Given the description of an element on the screen output the (x, y) to click on. 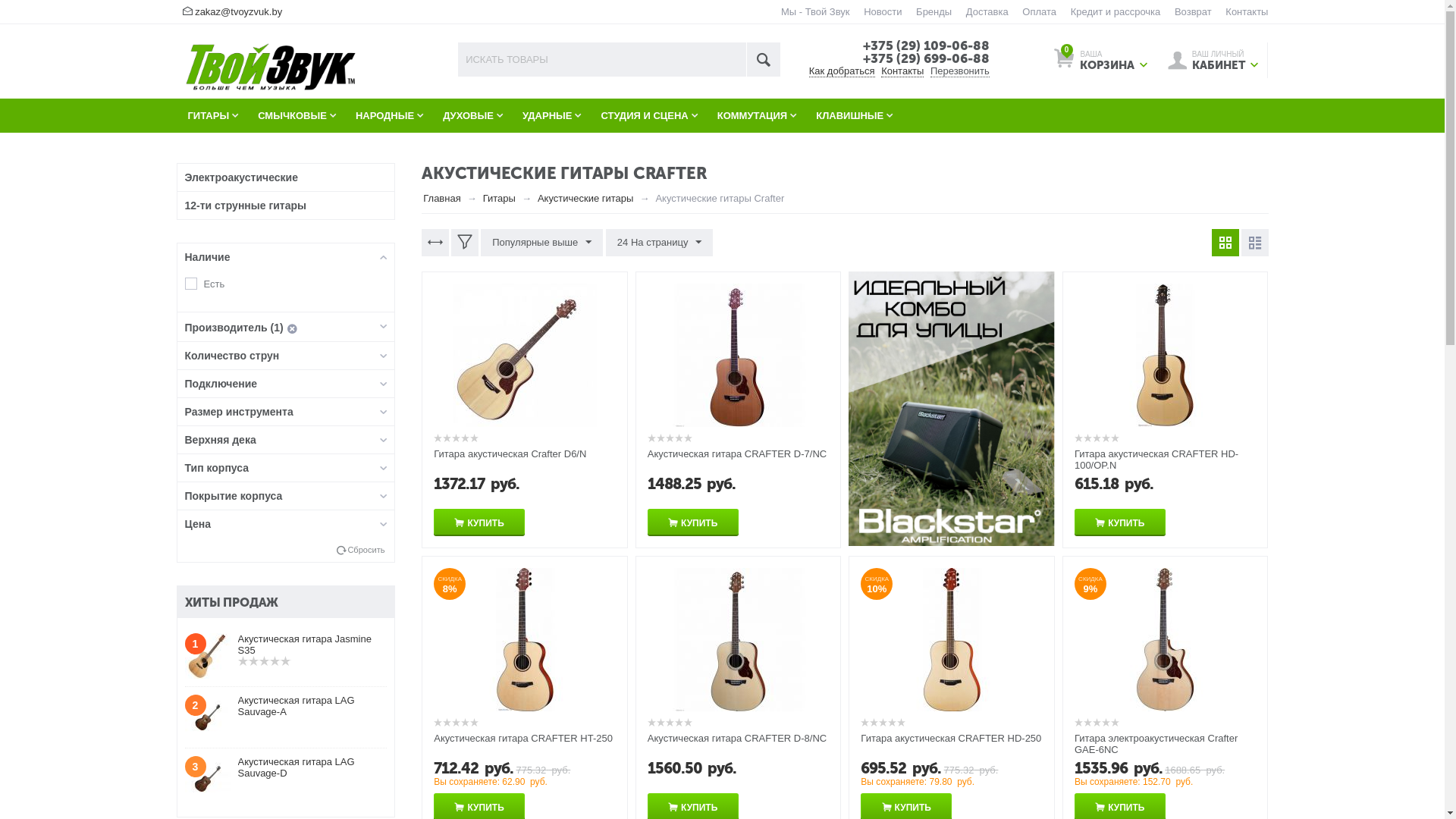
+375 (29) 699-06-88 Element type: text (925, 57)
+375 (29) 109-06-88 Element type: text (925, 45)
zakaz@tvoyzvuk.by Element type: text (238, 11)
